Given the description of an element on the screen output the (x, y) to click on. 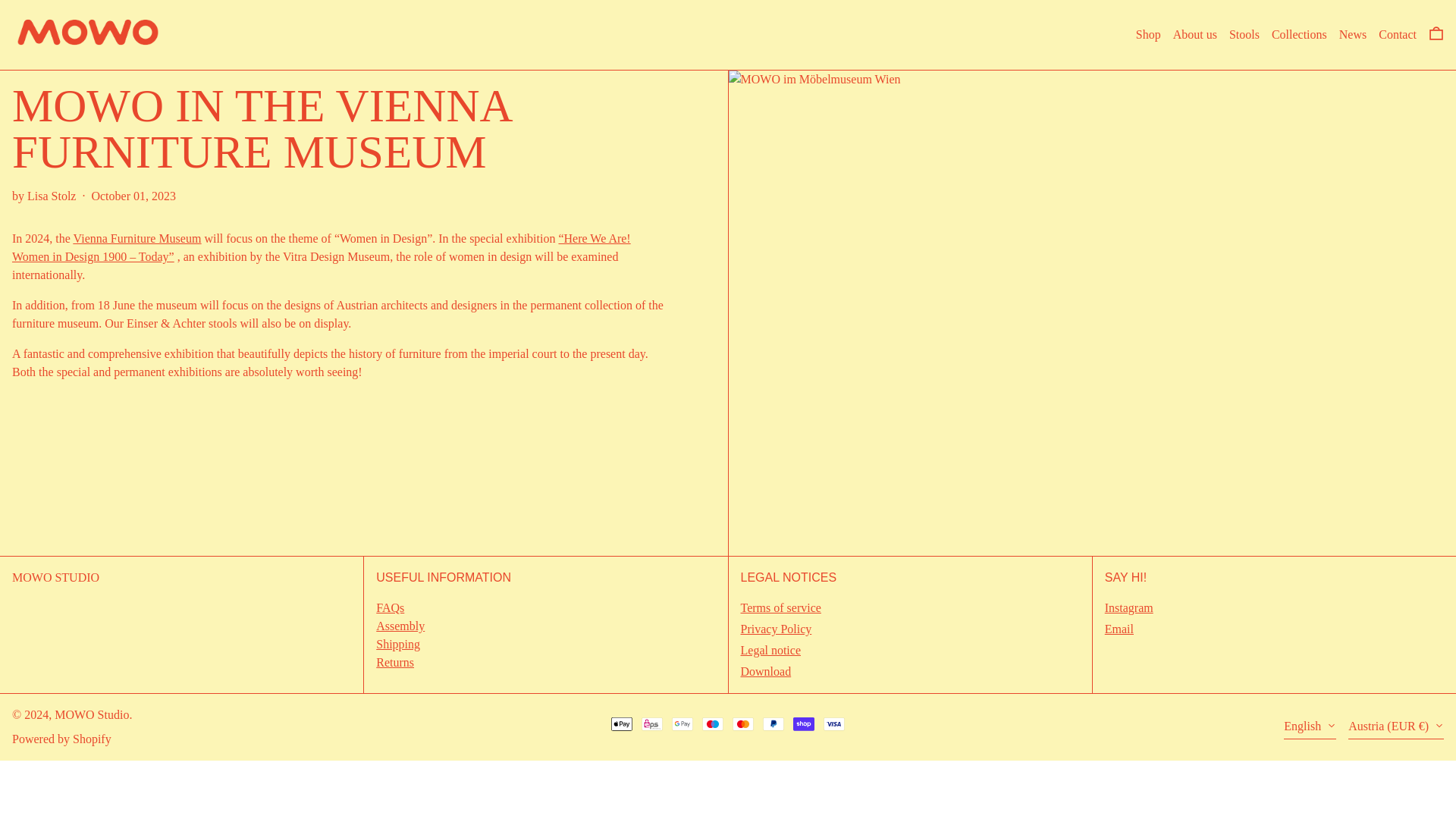
Instagram (1129, 607)
Assembly (400, 625)
Email (1119, 628)
Returns (394, 662)
Assembly (400, 625)
MOWO Studio (92, 714)
Collections (1298, 34)
HERE WE ARE (320, 246)
FAQs (389, 607)
Privacy Policy (774, 628)
